Given the description of an element on the screen output the (x, y) to click on. 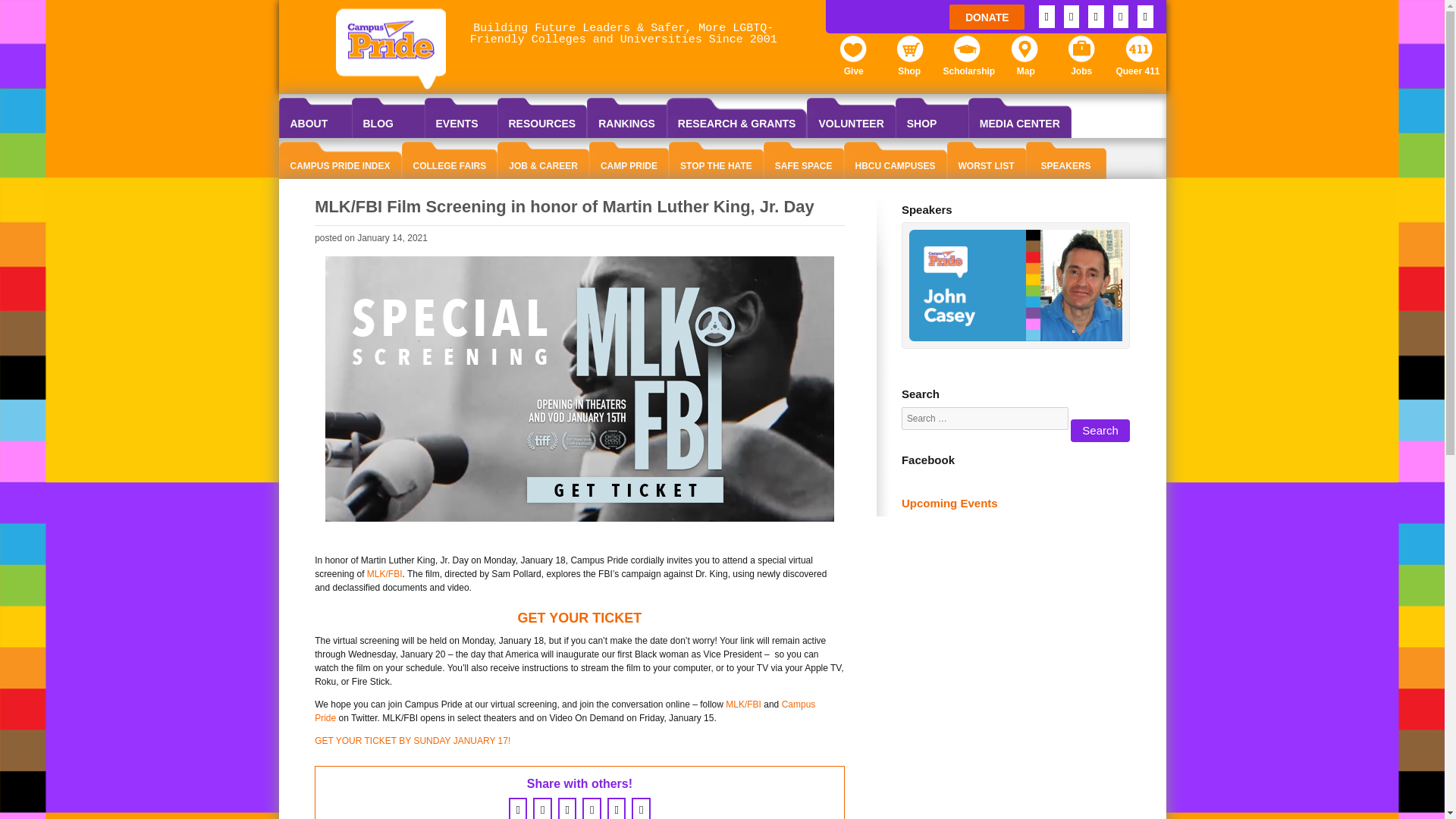
RESOURCES (542, 117)
ABOUT (315, 117)
RANKINGS (626, 117)
DONATE (986, 17)
Queer 411 (1138, 52)
Scholarship (966, 52)
EVENTS (461, 117)
Search (1099, 430)
Jobs (1080, 52)
Shop (909, 52)
Search (1099, 430)
BLOG (388, 117)
Campus Pride - Campus Pride (390, 50)
Map (1023, 52)
Give (852, 52)
